Given the description of an element on the screen output the (x, y) to click on. 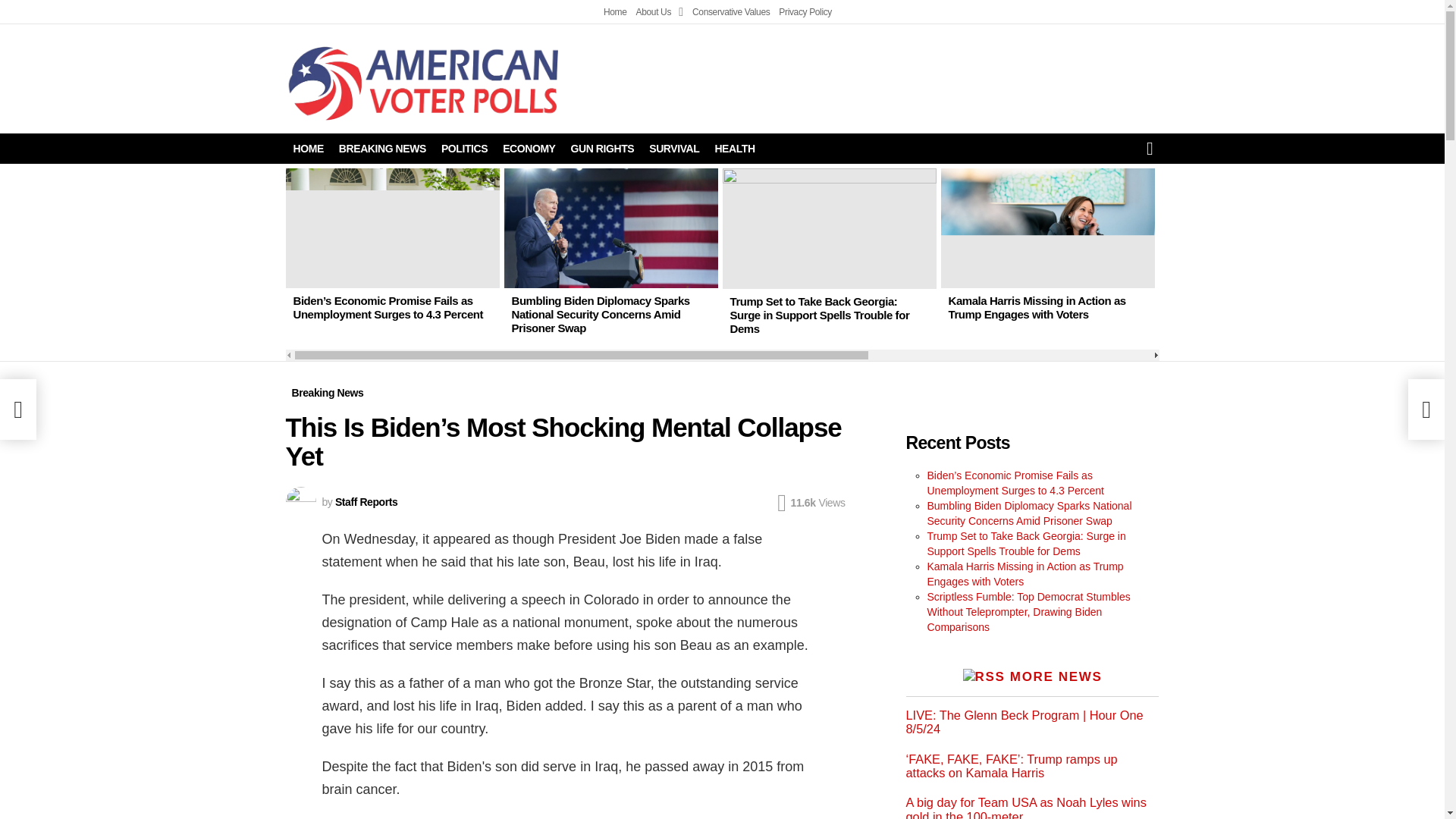
HEALTH (733, 148)
Staff Reports (365, 501)
About Us (659, 12)
SURVIVAL (674, 148)
ECONOMY (528, 148)
POLITICS (464, 148)
GUN RIGHTS (602, 148)
Privacy Policy (804, 12)
Breaking News (327, 392)
Conservative Values (731, 12)
Kamala Harris Missing in Action as Trump Engages with Voters (1047, 228)
Kamala Harris Missing in Action as Trump Engages with Voters (1036, 307)
